Given the description of an element on the screen output the (x, y) to click on. 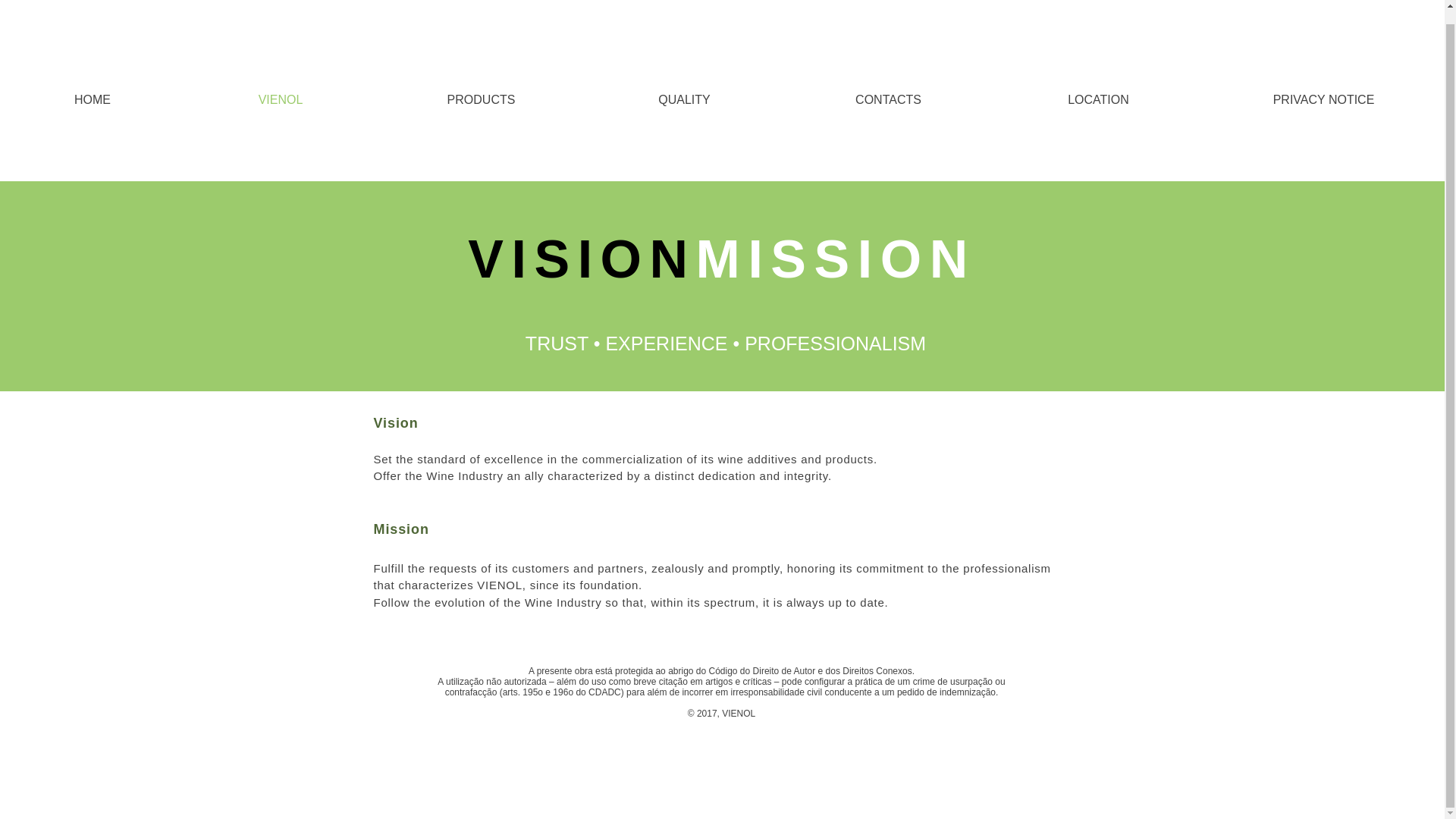
LOCATION (1098, 99)
HOME (92, 99)
CONTACTS (888, 99)
QUALITY (684, 99)
VIENOL (279, 99)
PRODUCTS (480, 99)
